Given the description of an element on the screen output the (x, y) to click on. 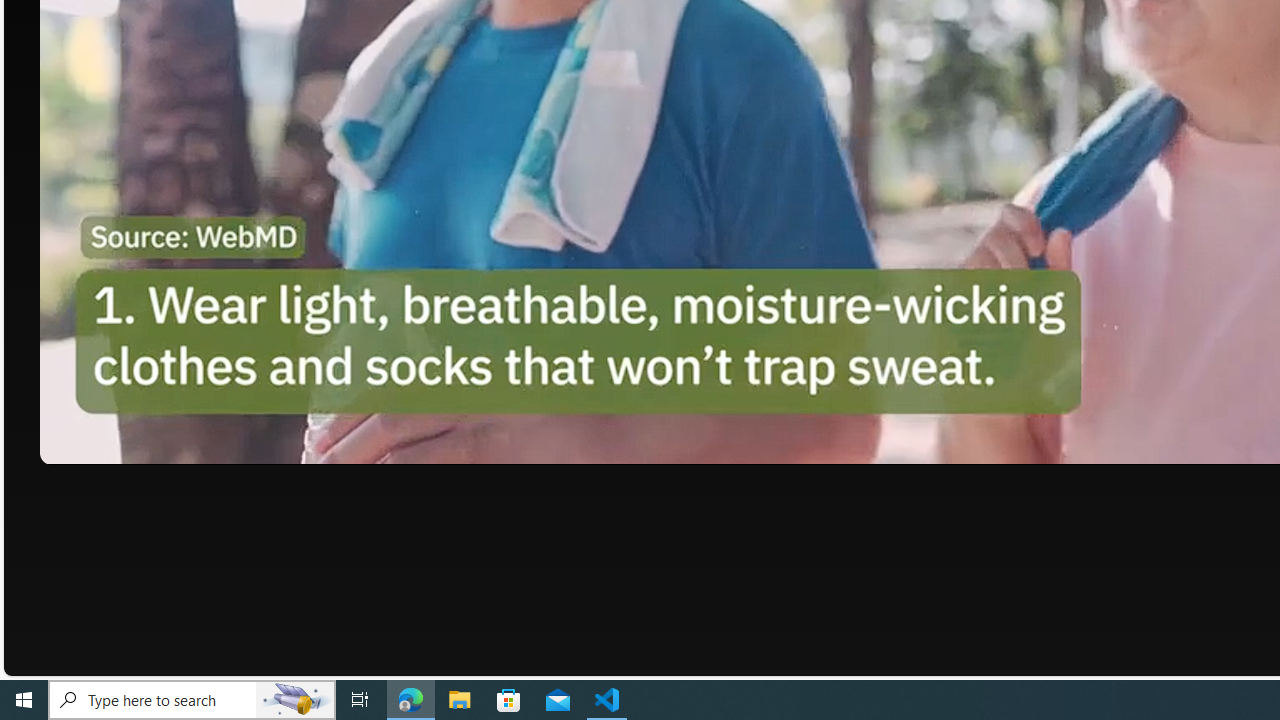
Pause (69, 442)
Seek Forward (150, 442)
Seek Back (109, 442)
